Given the description of an element on the screen output the (x, y) to click on. 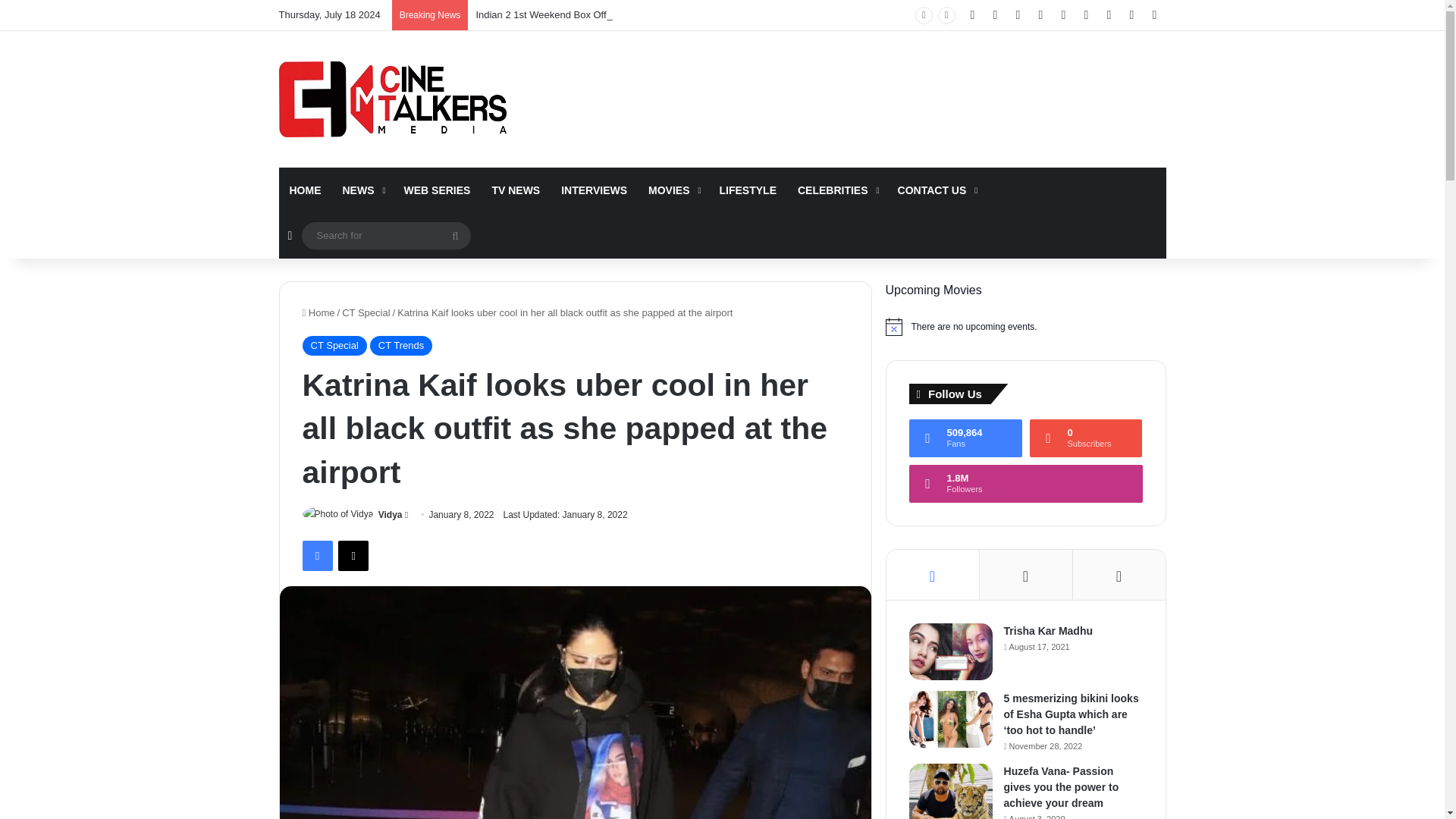
CELEBRITIES (836, 189)
MOVIES (672, 189)
X (352, 555)
CineTalkers (392, 99)
RSS (1086, 15)
X (995, 15)
Search for (385, 235)
INTERVIEWS (593, 189)
Facebook (316, 555)
LIFESTYLE (748, 189)
Vidya (390, 514)
Random Article (290, 235)
YouTube (1040, 15)
